Given the description of an element on the screen output the (x, y) to click on. 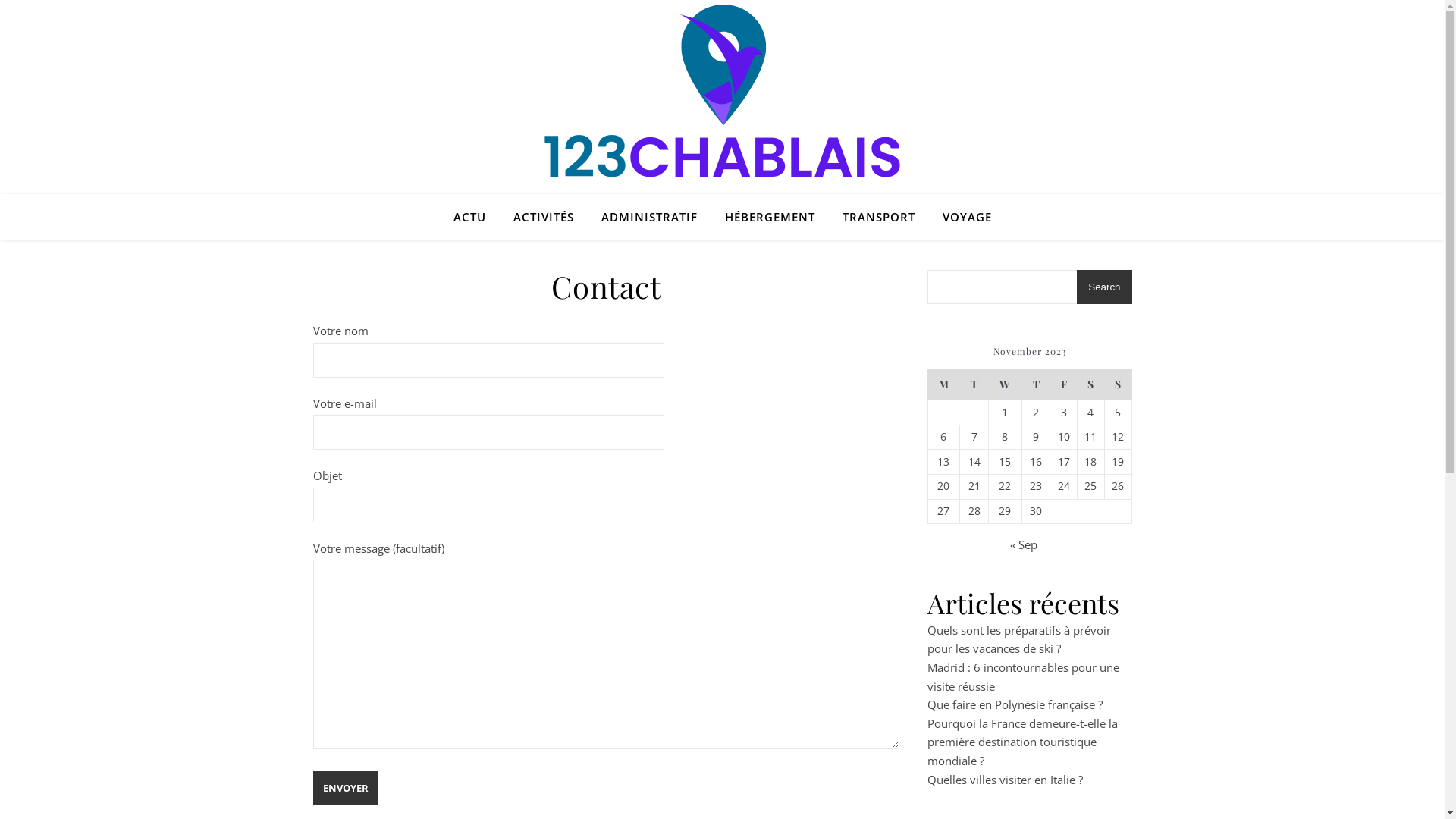
VOYAGE Element type: text (960, 216)
TRANSPORT Element type: text (877, 216)
Envoyer Element type: text (344, 787)
www.123chablais.com Element type: hover (721, 91)
Search Element type: text (1103, 286)
ACTU Element type: text (475, 216)
ADMINISTRATIF Element type: text (648, 216)
Quelles villes visiter en Italie ? Element type: text (1004, 779)
